Given the description of an element on the screen output the (x, y) to click on. 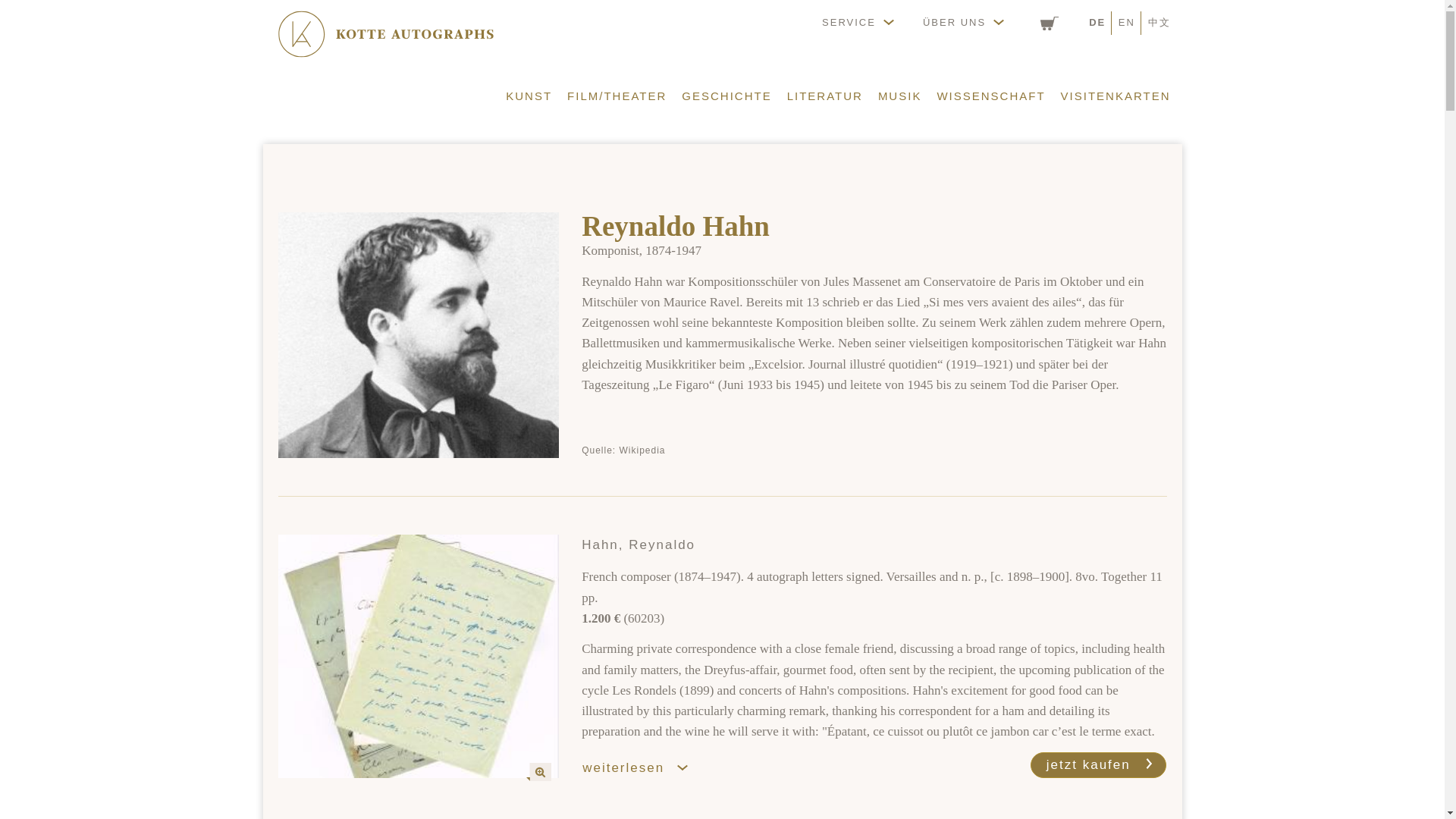
DE (1097, 21)
Hahn, Reynaldo (418, 656)
jetzt kaufen (1098, 765)
WISSENSCHAFT (990, 90)
GESCHICHTE (726, 90)
LITERATUR (825, 90)
MUSIK (899, 90)
weiterlesen (642, 767)
VISITENKARTEN (1115, 90)
KUNST (528, 90)
